Given the description of an element on the screen output the (x, y) to click on. 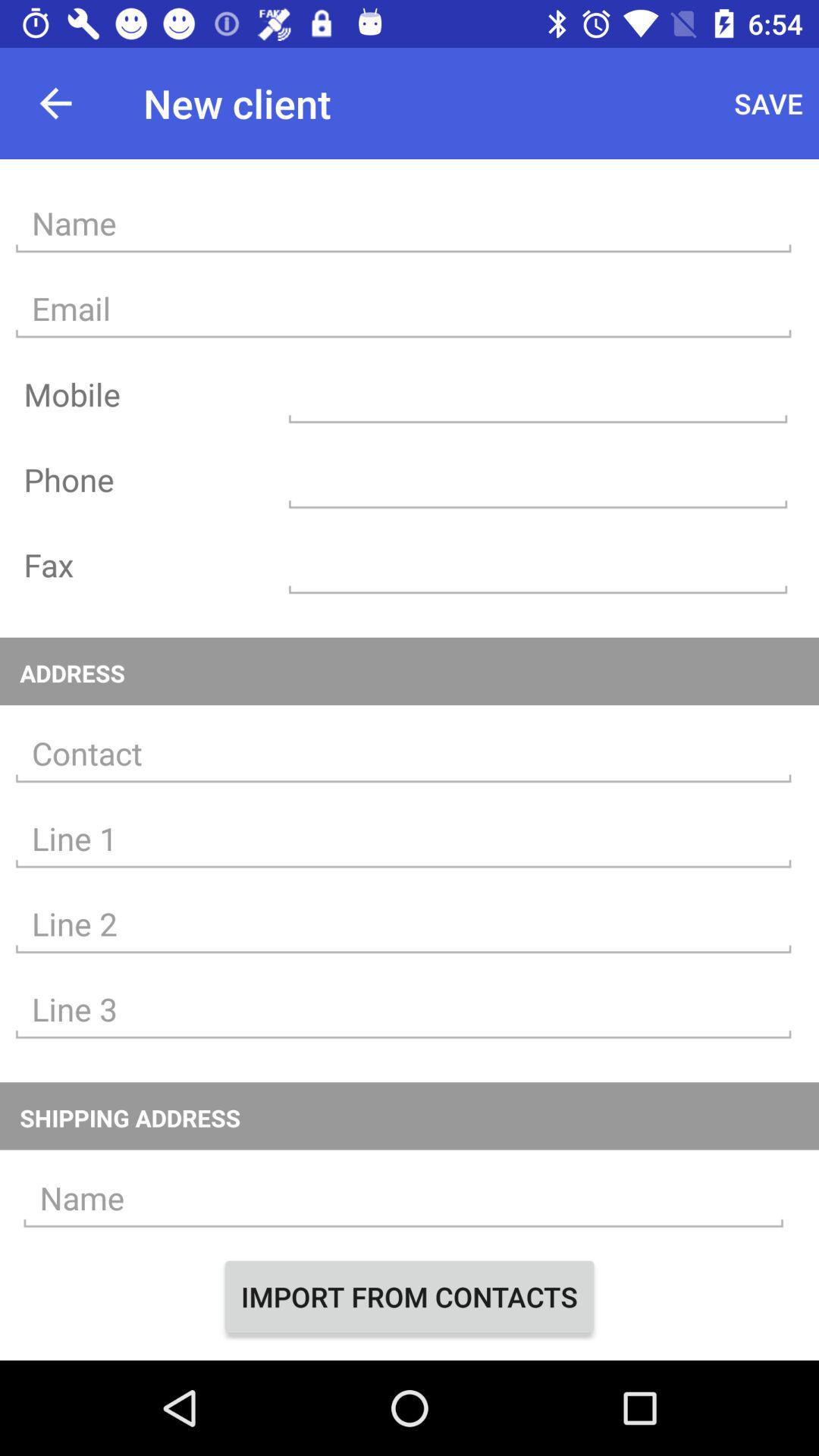
press icon below shipping address icon (403, 1198)
